Given the description of an element on the screen output the (x, y) to click on. 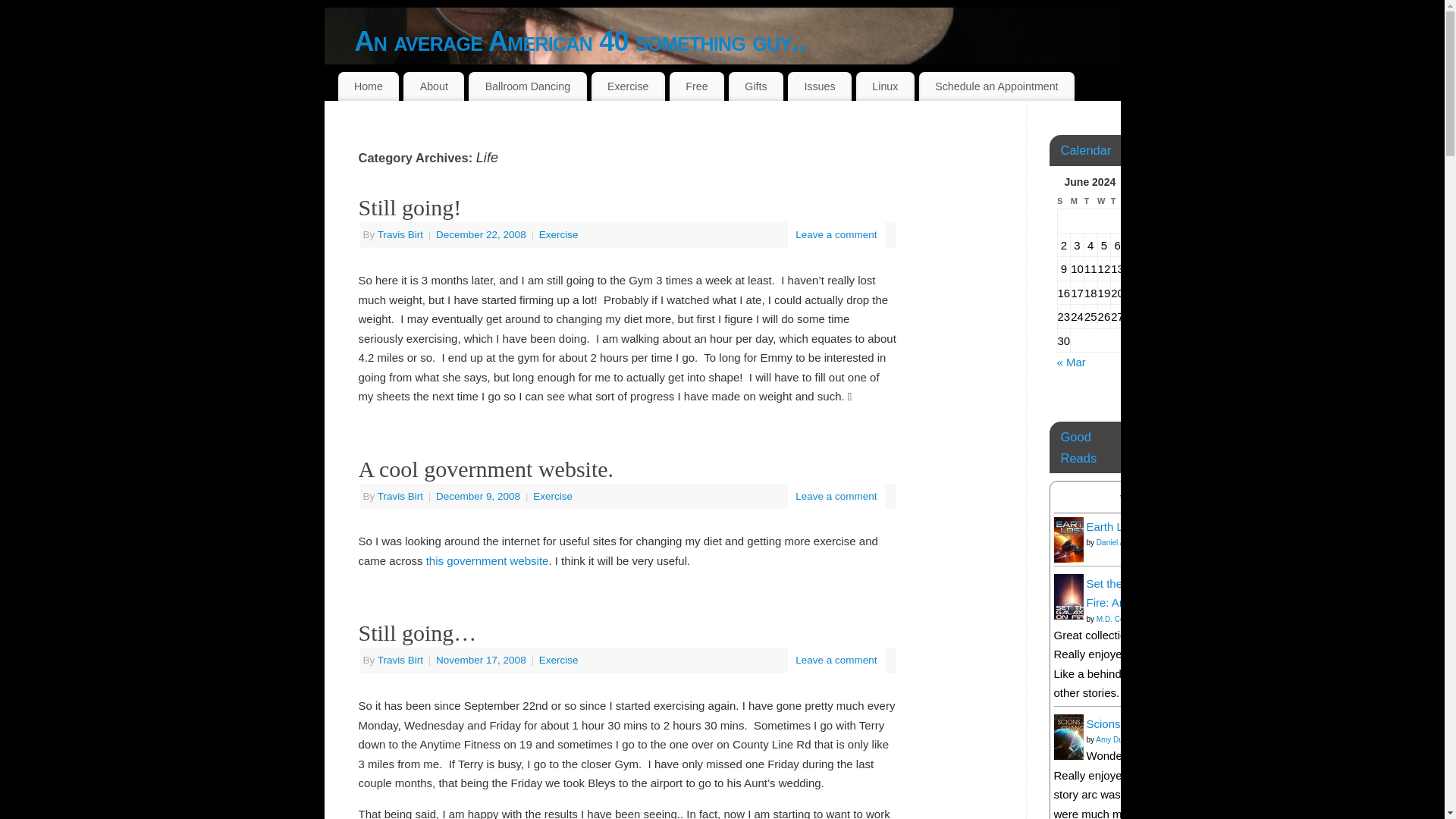
A cool government website. (485, 468)
Exercise (558, 234)
Leave a comment (835, 234)
Gifts (756, 86)
Permalink to A cool government website. (485, 468)
An average American 40 something guy.. (738, 41)
Permalink to Still going! (409, 207)
4:38 pm (481, 234)
Leave a comment (835, 496)
Linux (885, 86)
